Given the description of an element on the screen output the (x, y) to click on. 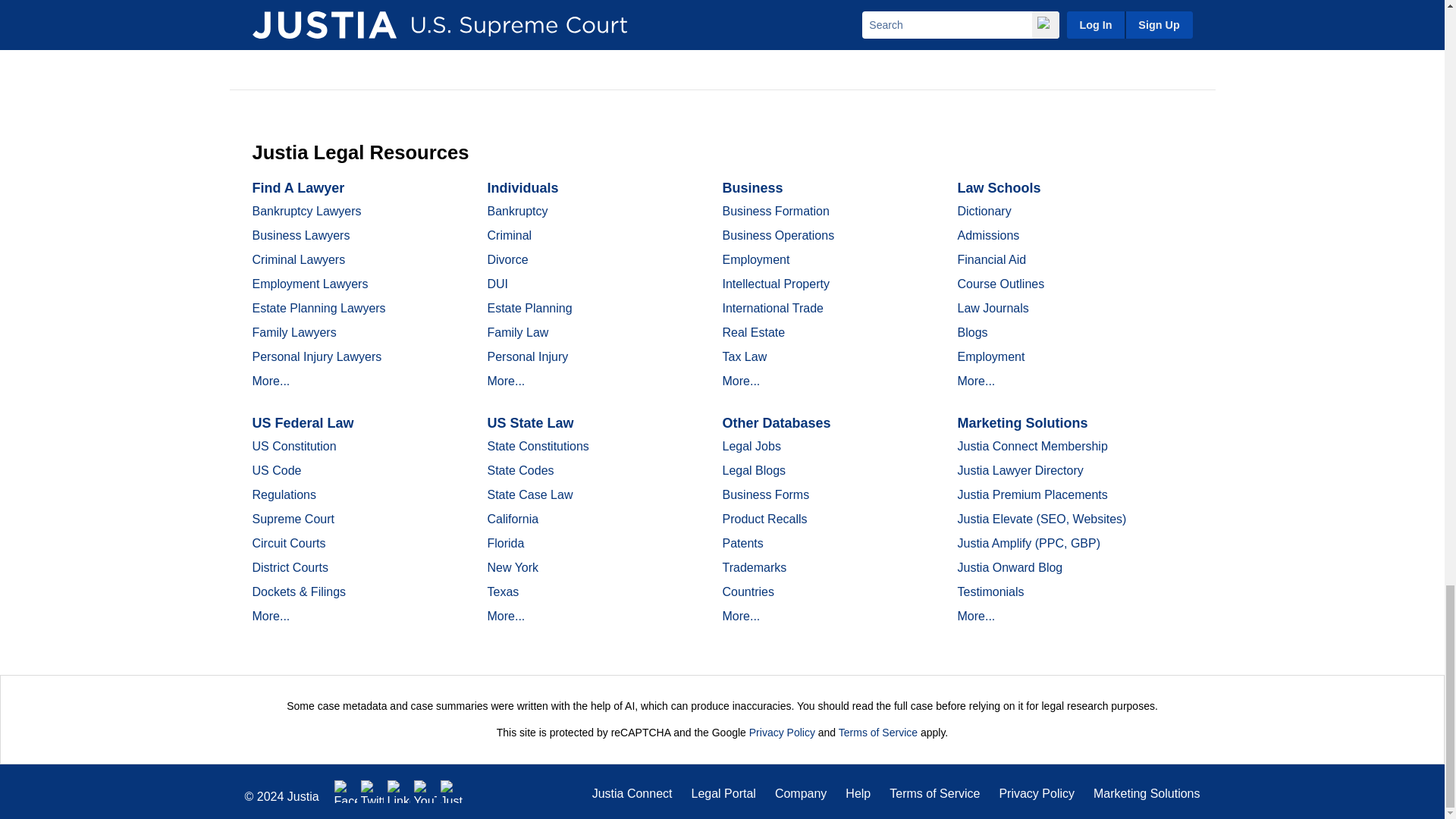
Justia Lawyer Directory (452, 791)
Twitter (372, 791)
Facebook (345, 791)
LinkedIn (398, 791)
YouTube (424, 791)
